Given the description of an element on the screen output the (x, y) to click on. 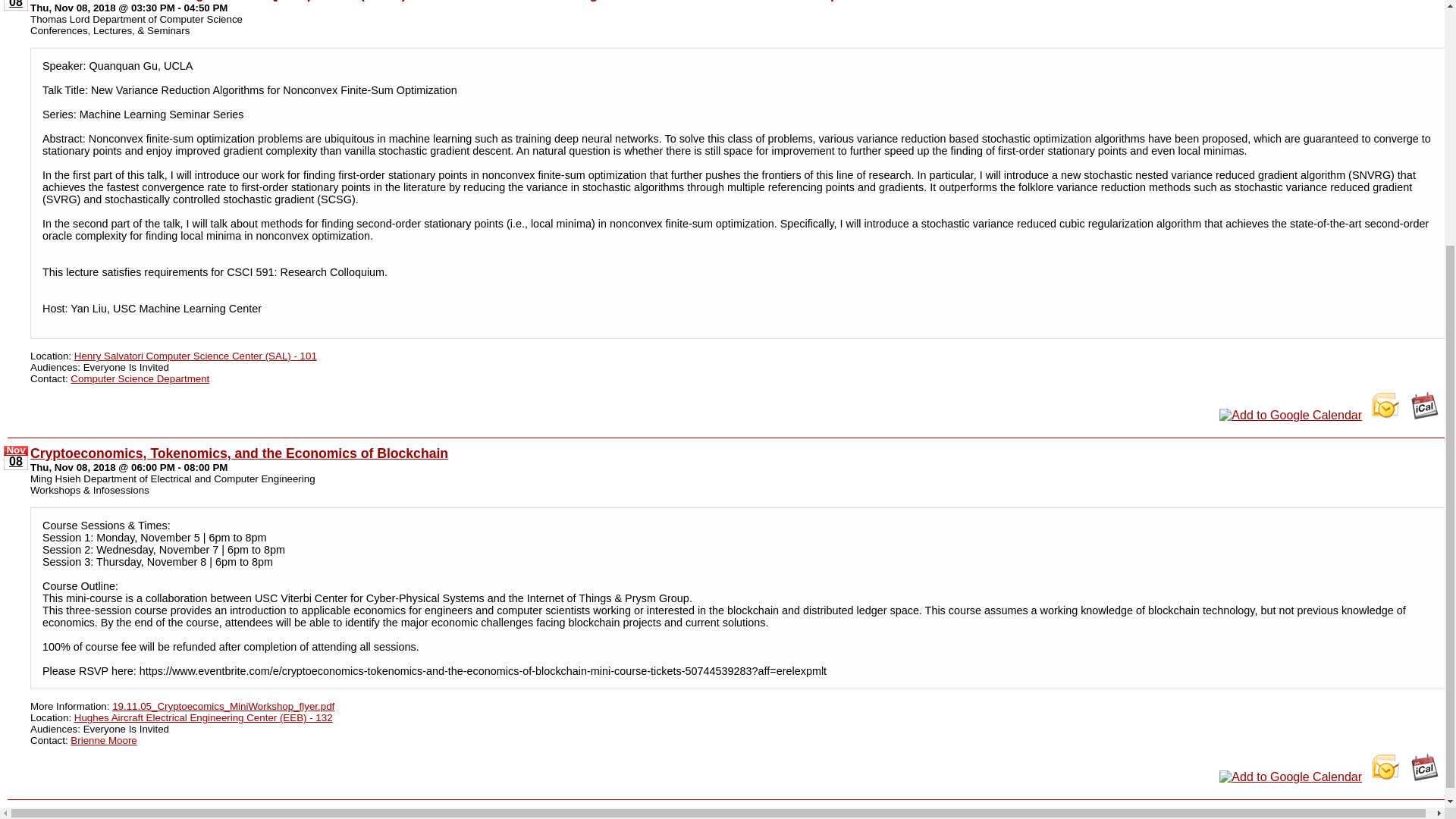
Send Email to Brienne Moore (102, 739)
08 (15, 4)
Send Email to Computer Science Department (139, 377)
